Given the description of an element on the screen output the (x, y) to click on. 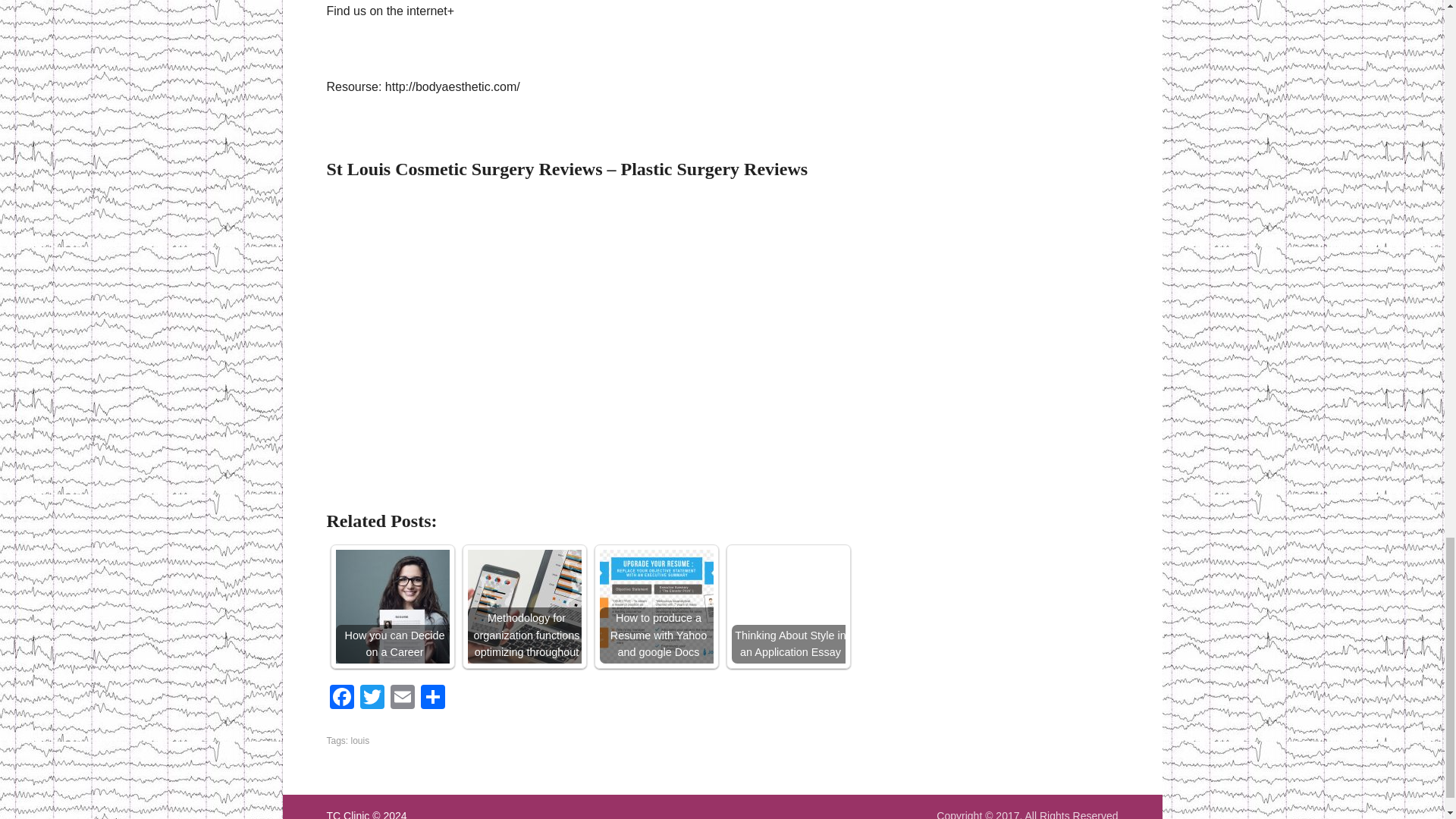
How you can Decide on a Career (391, 606)
Methodology for organization functions optimizing throughout (523, 606)
louis (359, 740)
Twitter (371, 698)
Thinking About Style in an Application Essay (787, 606)
Email (401, 698)
Email (401, 698)
How to produce a Resume with Yahoo and google Docs (655, 606)
Thinking About Style in an Application Essay (787, 606)
